Given the description of an element on the screen output the (x, y) to click on. 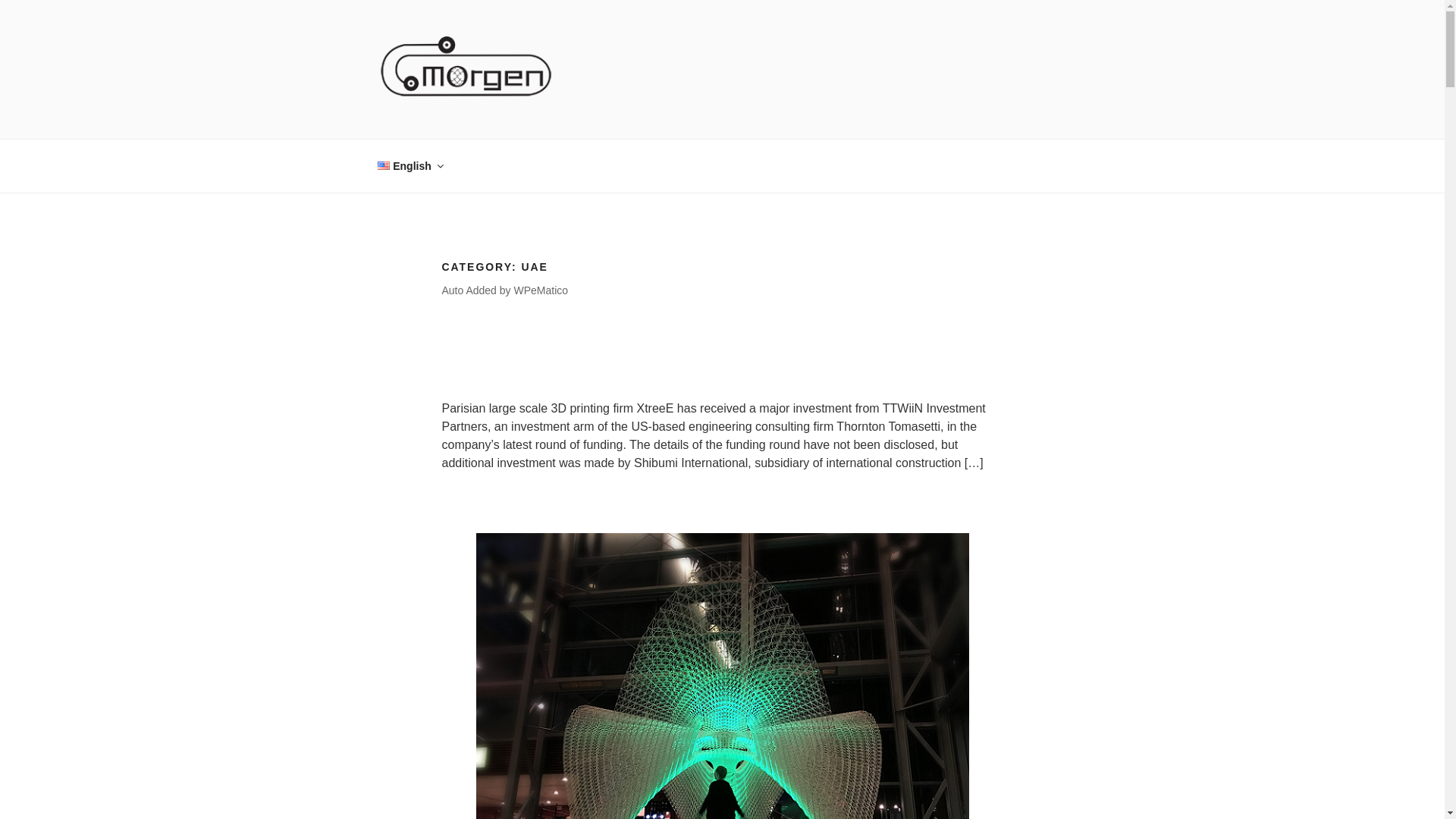
English (409, 165)
PERFECT 3D PRINTING FILAMENT (635, 119)
